Given the description of an element on the screen output the (x, y) to click on. 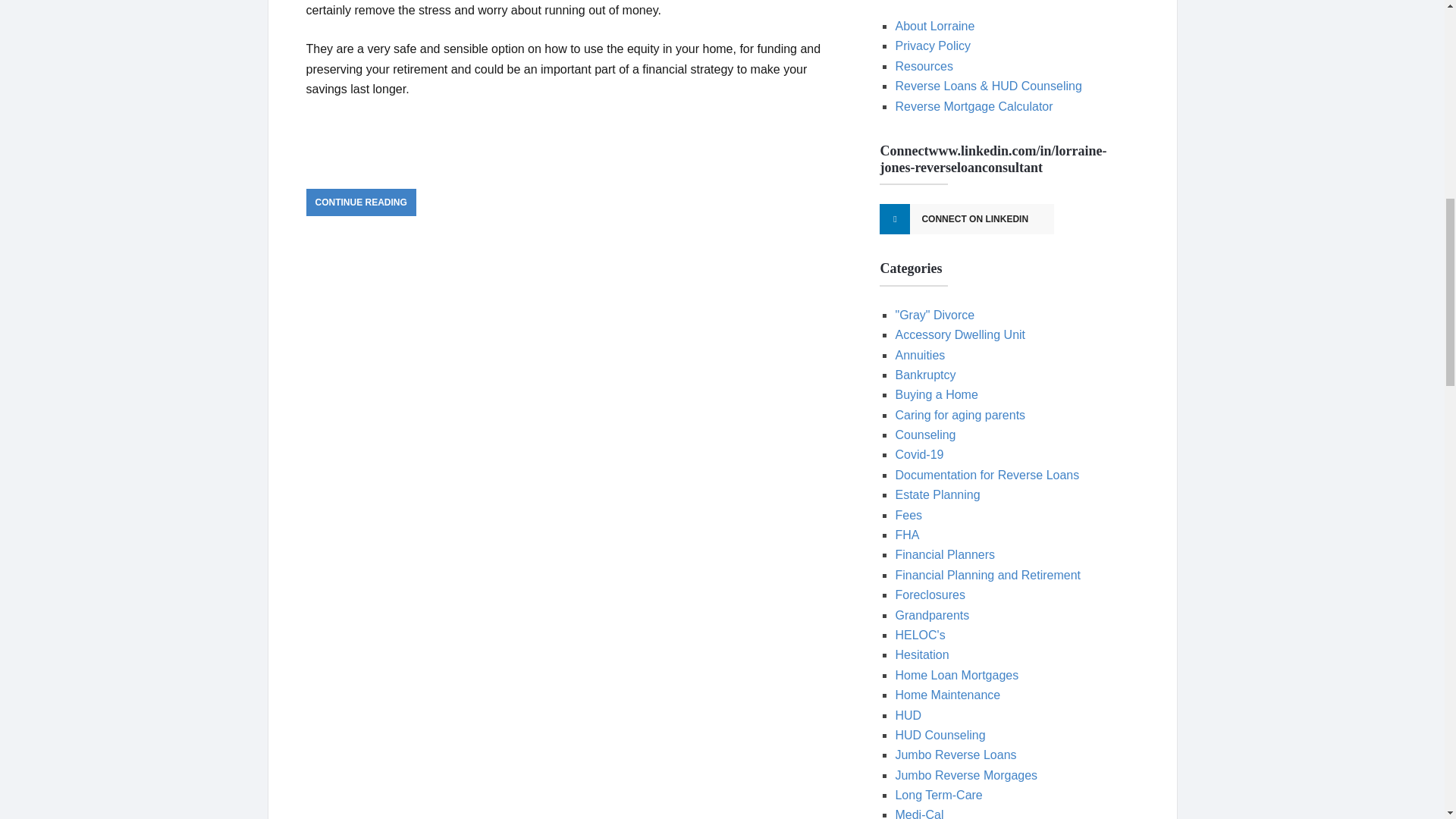
Fees (908, 514)
FHA (906, 534)
"Gray" Divorce (934, 314)
Bankruptcy (925, 374)
About Lorraine (934, 25)
Privacy Policy (933, 45)
Annuities (919, 354)
Estate Planning (937, 494)
Hesitation (922, 654)
Grandparents (932, 615)
Home Maintenance (947, 694)
Counseling (925, 434)
Covid-19 (919, 454)
Resources (923, 65)
CONNECT ON LINKEDIN (966, 218)
